Given the description of an element on the screen output the (x, y) to click on. 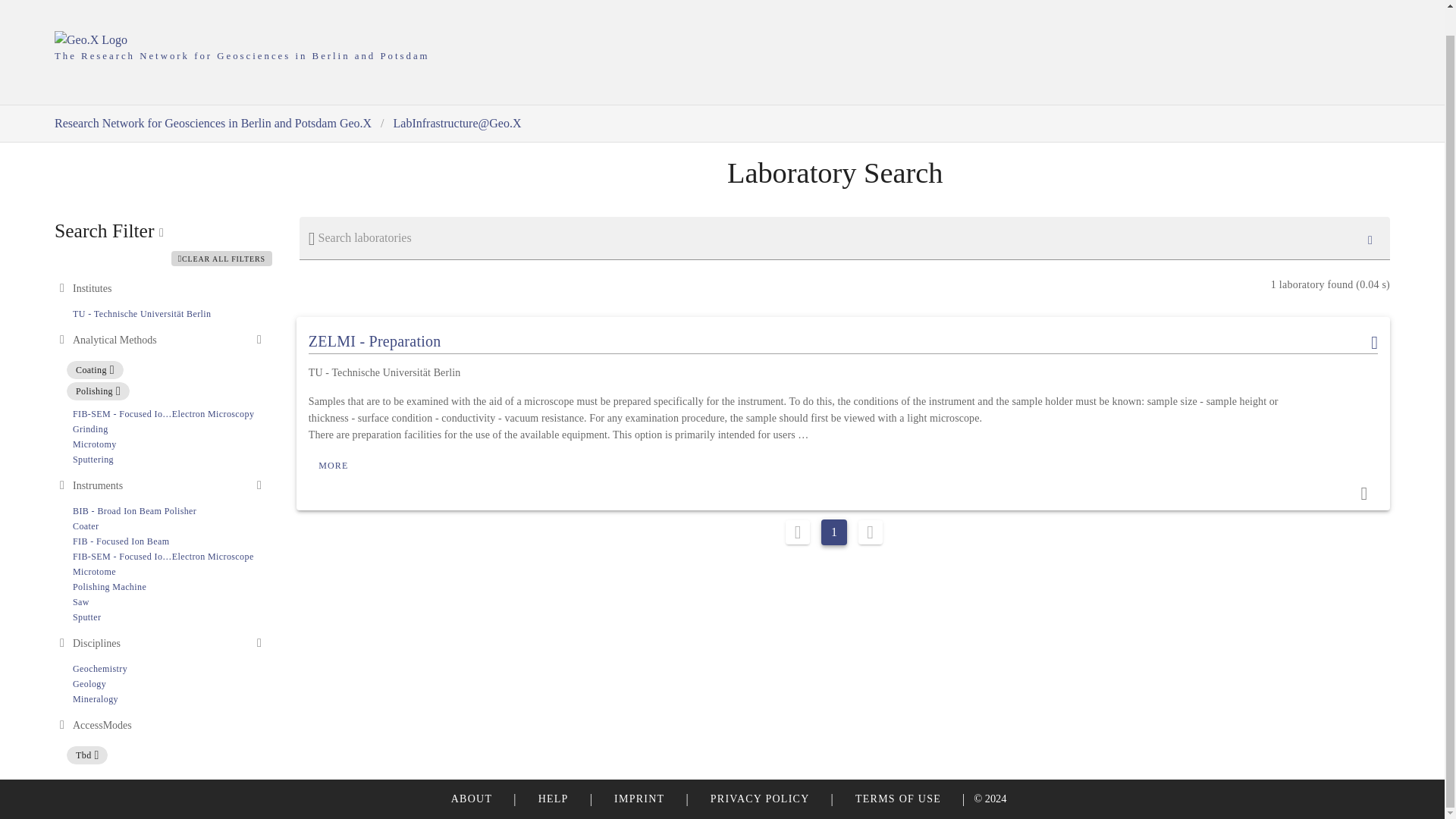
Sputter (86, 616)
Microtomy (94, 443)
Sputtering (92, 459)
Saw (168, 683)
Microtome (80, 602)
Microtome (94, 571)
Grinding (94, 571)
FIB-SEM - Focused Ion Beam Scanning Electron Microscopy (89, 429)
Grinding (168, 683)
FIB-SEM - Focused Ion Beam Scanning Electron Microscope (162, 413)
Polishing Machine (89, 429)
FIB - Focused Ion Beam (162, 556)
Saw (109, 586)
